Given the description of an element on the screen output the (x, y) to click on. 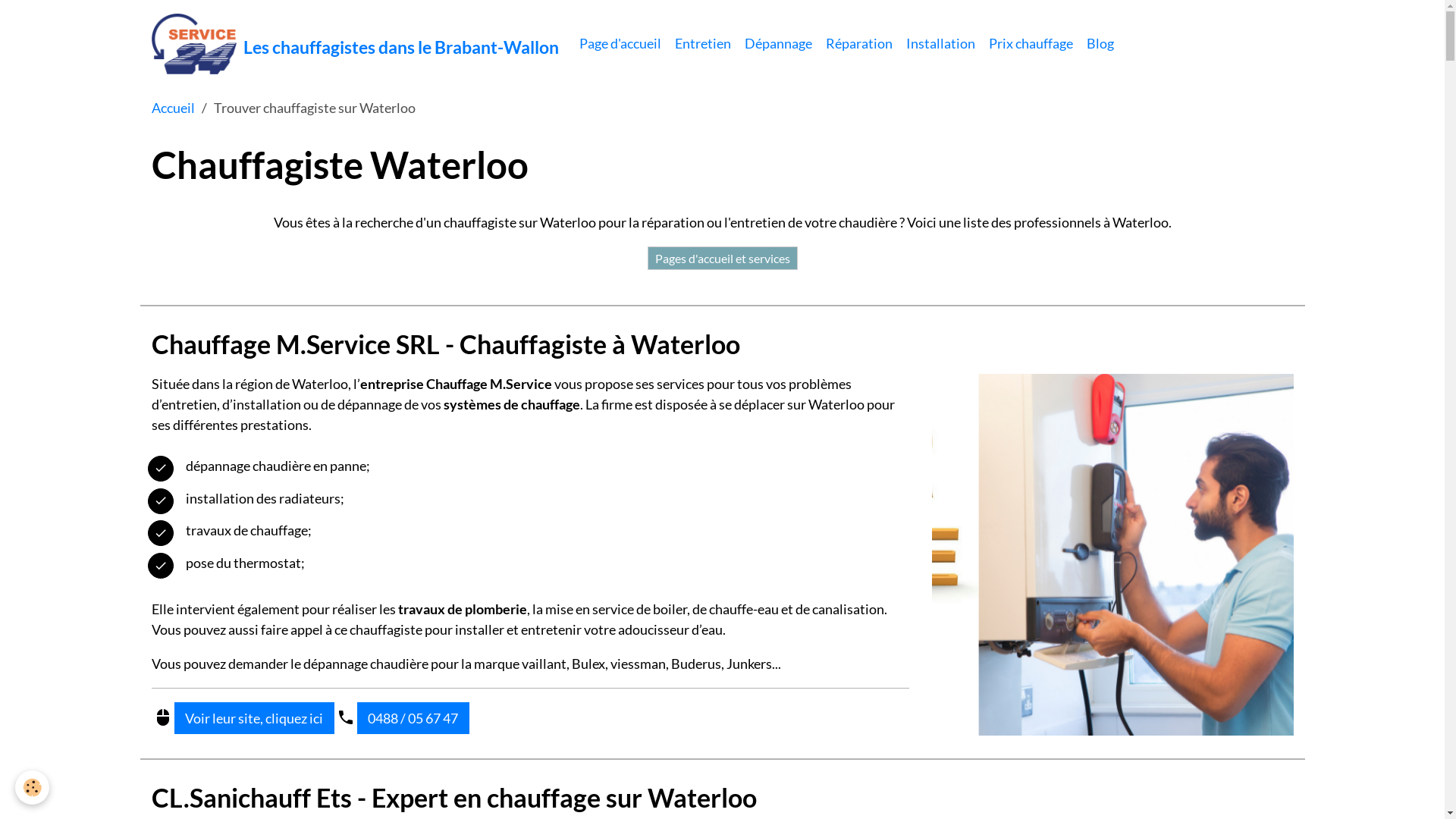
Installation Element type: text (940, 43)
Prix chauffage Element type: text (1030, 43)
0488 / 05 67 47 Element type: text (412, 718)
Entretien Element type: text (702, 43)
Accueil Element type: text (172, 107)
Page d'accueil Element type: text (620, 43)
Blog Element type: text (1099, 43)
Voir leur site, cliquez ici Element type: text (254, 718)
Les chauffagistes dans le Brabant-Wallon Element type: text (354, 43)
Pages d'accueil et services Element type: text (722, 257)
